Given the description of an element on the screen output the (x, y) to click on. 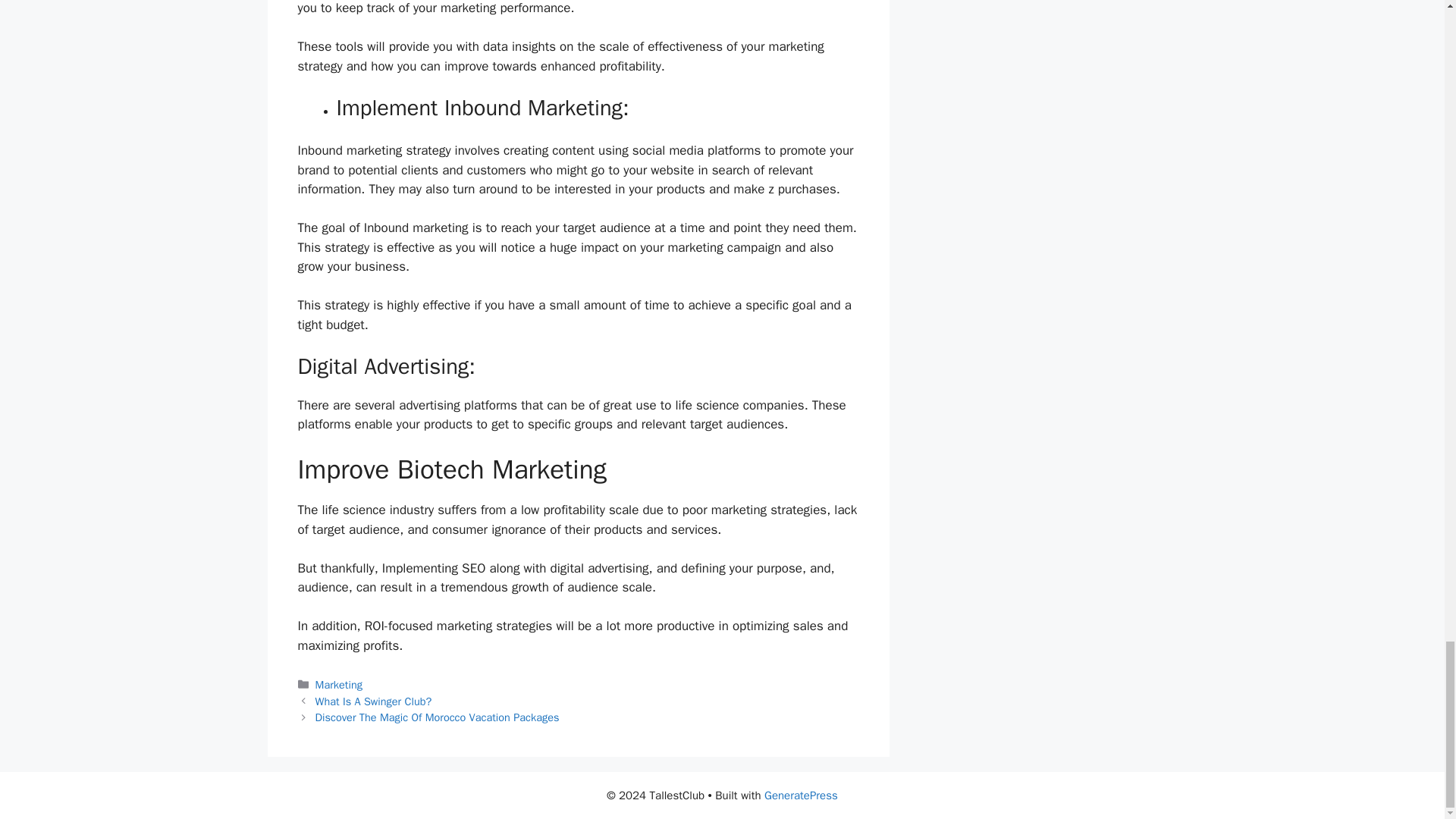
What Is A Swinger Club? (373, 701)
Discover The Magic Of Morocco Vacation Packages (437, 716)
Marketing (338, 684)
